Given the description of an element on the screen output the (x, y) to click on. 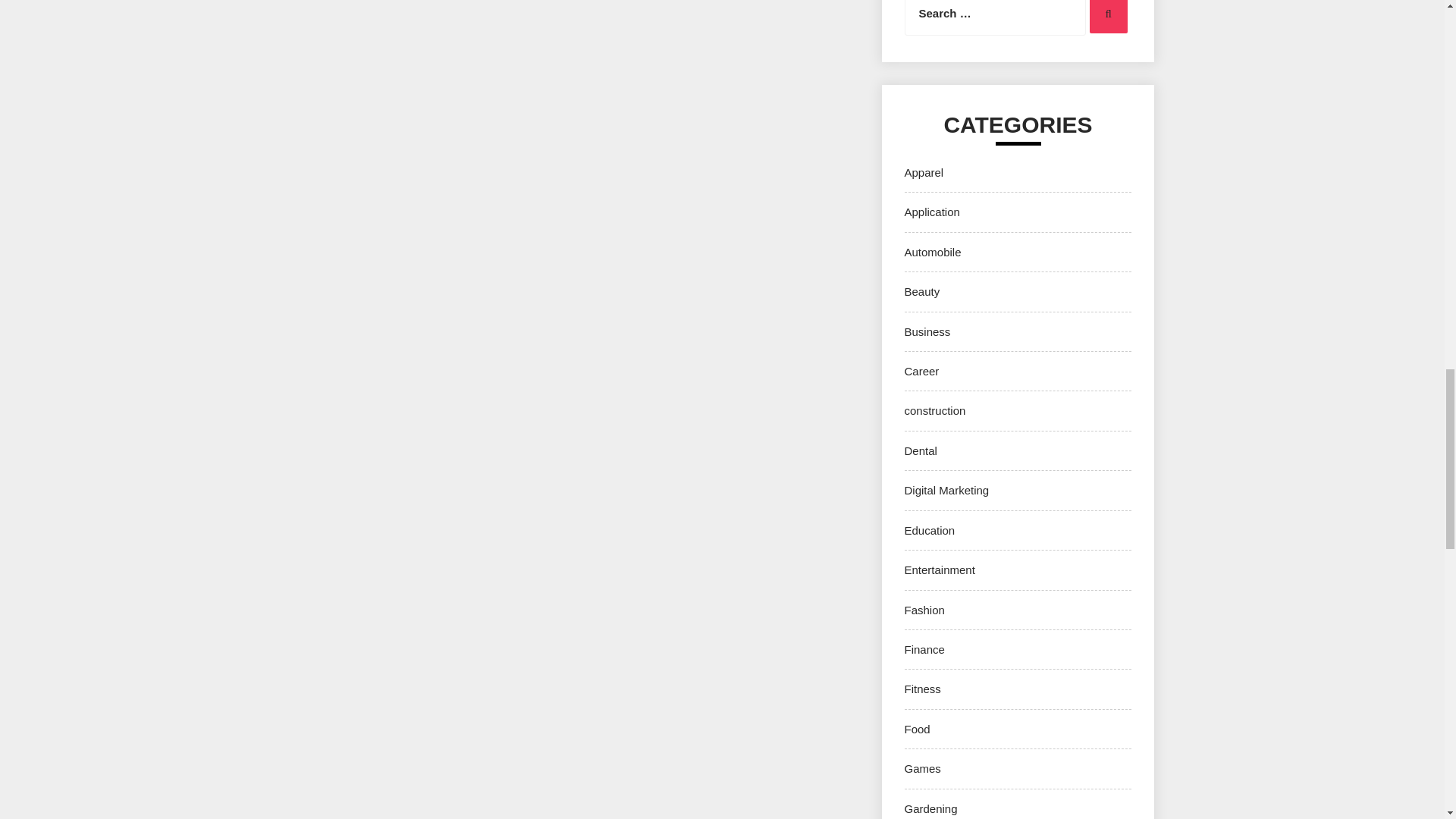
Entertainment (939, 569)
Career (921, 370)
Dental (920, 450)
Apparel (923, 172)
construction (934, 410)
Beauty (921, 291)
Digital Marketing (946, 490)
Fashion (923, 609)
Application (931, 211)
Finance (923, 649)
Education (929, 530)
Automobile (932, 251)
Business (927, 331)
Search (1107, 16)
